Given the description of an element on the screen output the (x, y) to click on. 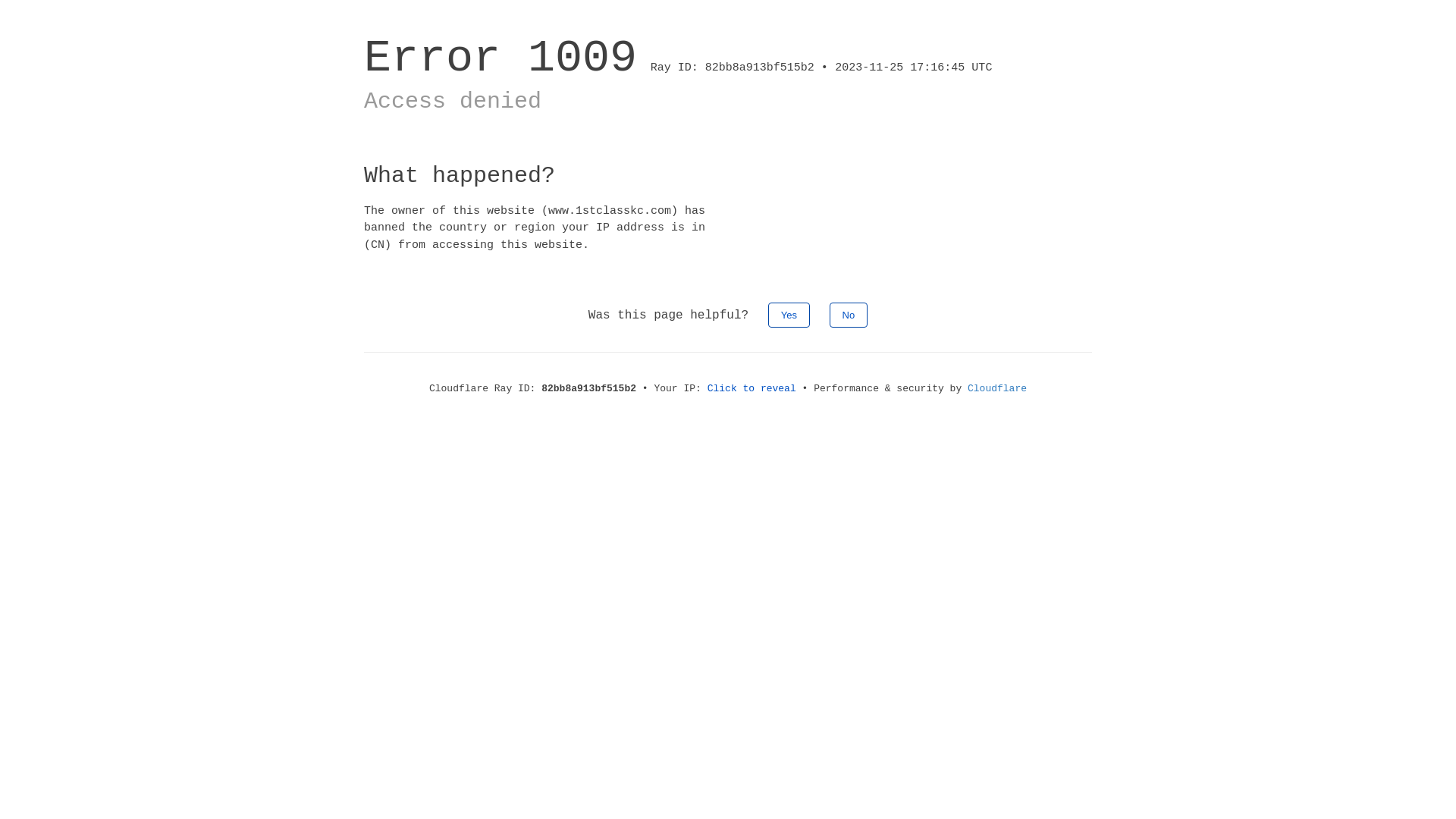
No Element type: text (848, 314)
Click to reveal Element type: text (751, 388)
Cloudflare Element type: text (996, 388)
Yes Element type: text (788, 314)
